Given the description of an element on the screen output the (x, y) to click on. 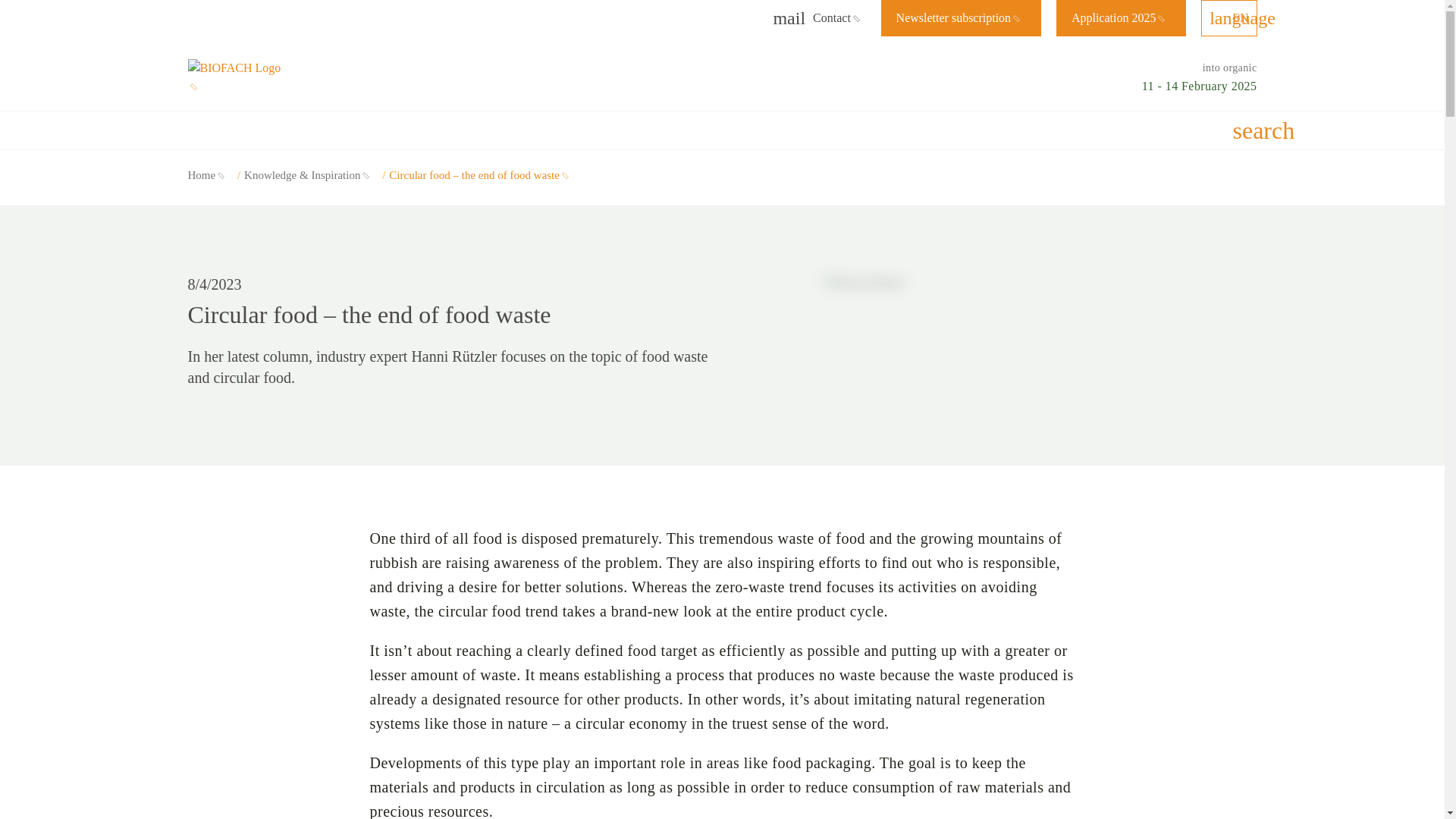
Contact (818, 18)
Link to the application page of BIOFACH (1121, 17)
Newsletter subscription (960, 17)
Application 2025 (1121, 17)
Link to the page "newsletter" (960, 17)
